Given the description of an element on the screen output the (x, y) to click on. 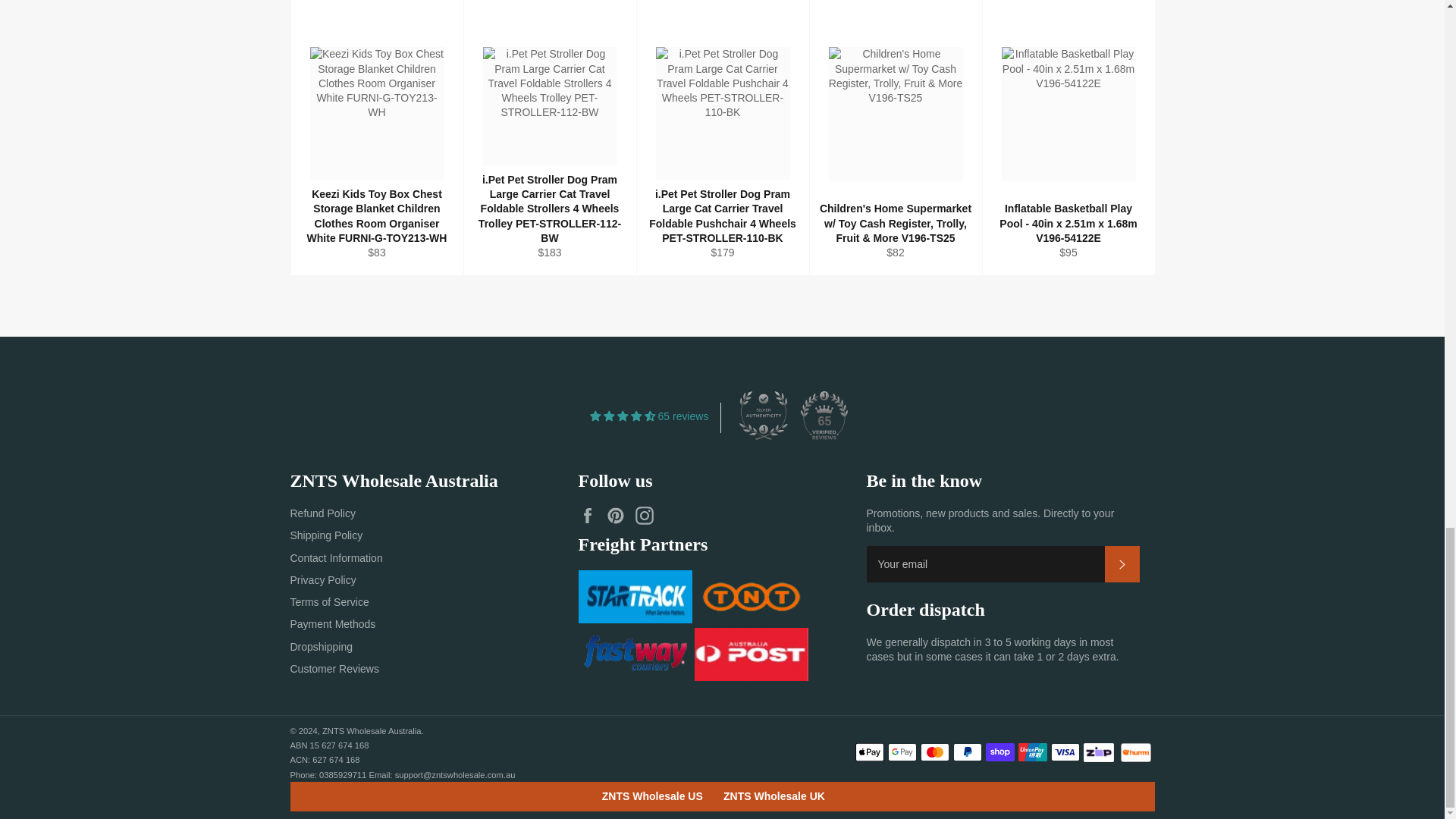
ZNTS Wholesale Australia on Facebook (591, 515)
ZNTS Wholesale Australia on Pinterest (619, 515)
ZNTS Wholesale Australia on Instagram (647, 515)
